Given the description of an element on the screen output the (x, y) to click on. 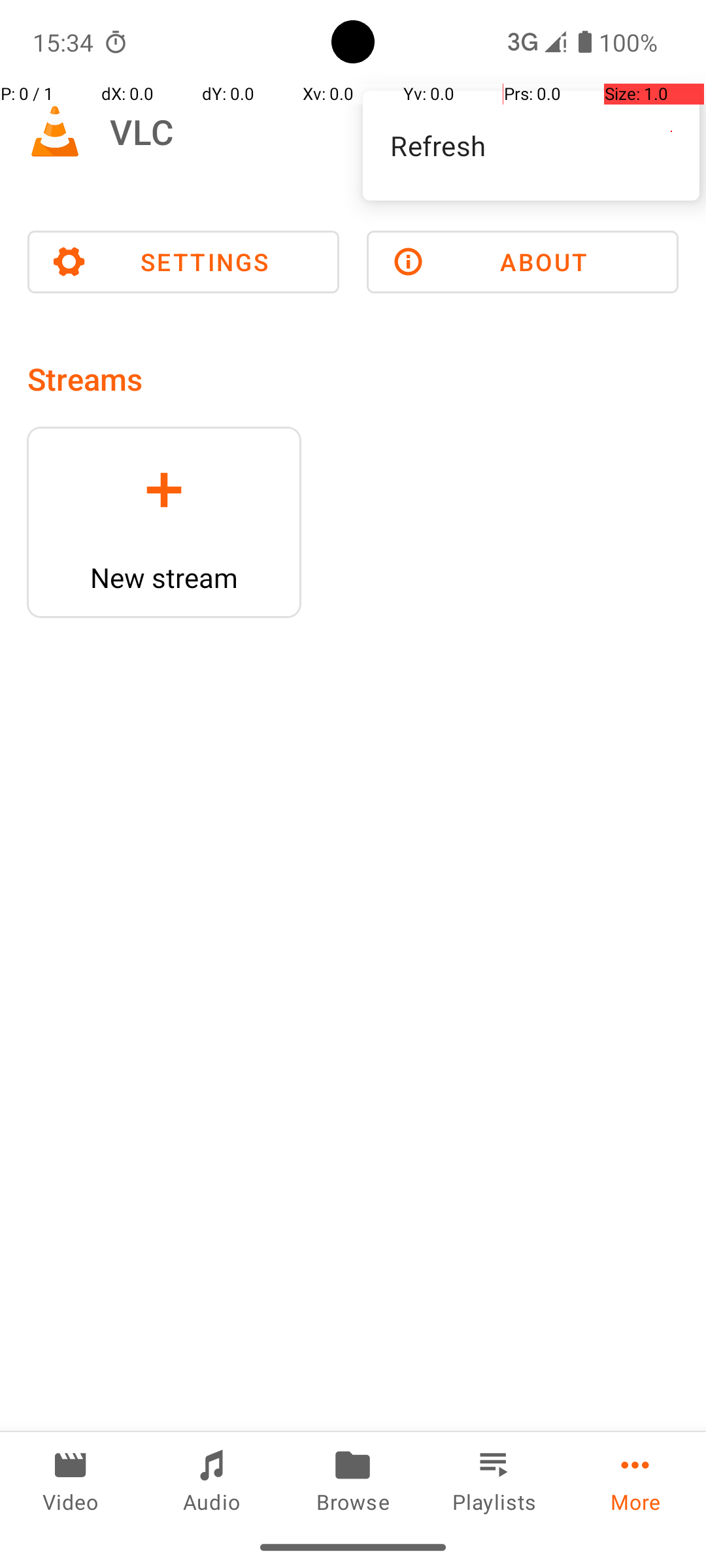
Refresh Element type: android.widget.TextView (531, 144)
